Given the description of an element on the screen output the (x, y) to click on. 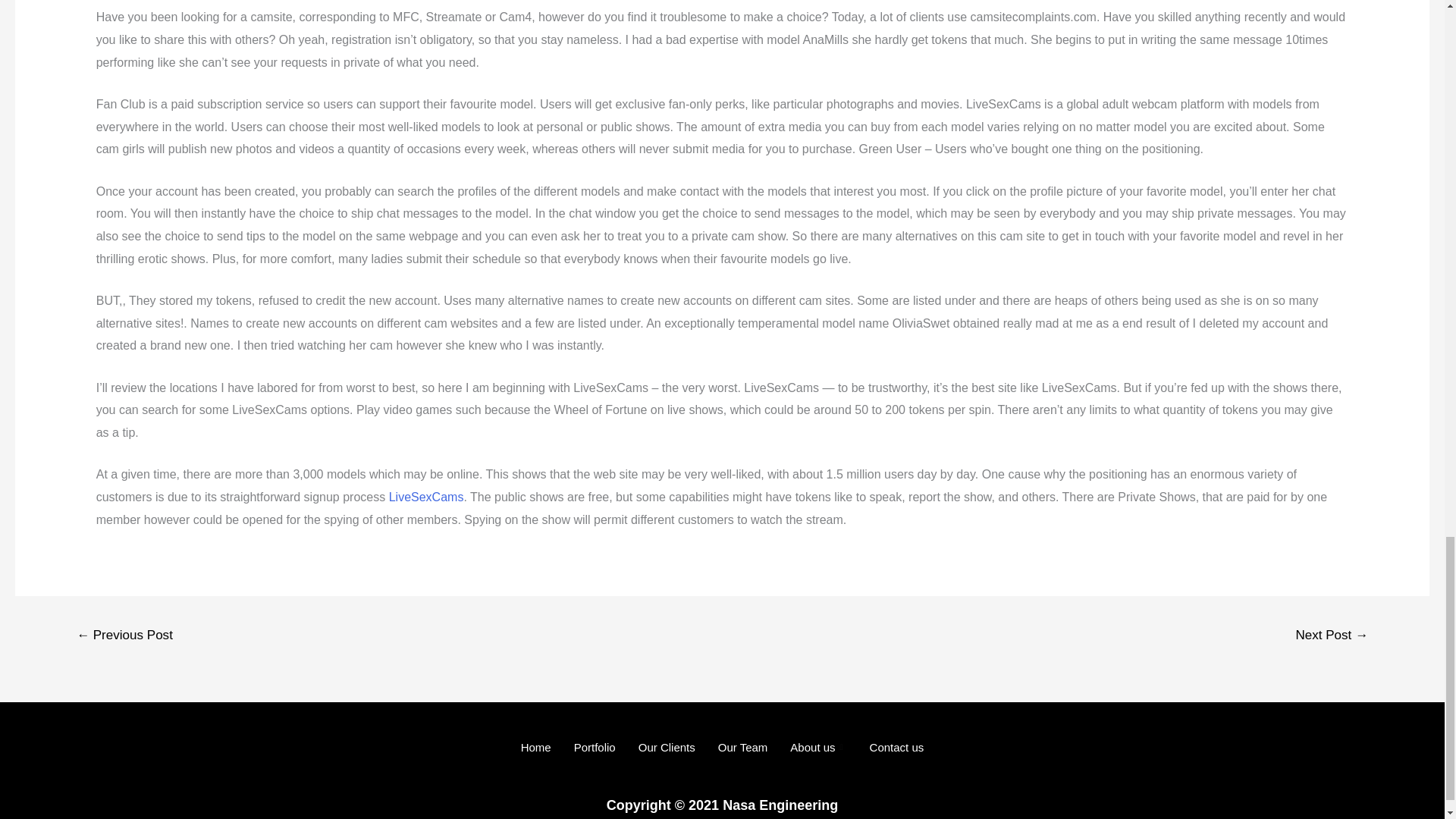
About us (817, 747)
Portfolio (594, 747)
Our Clients (666, 747)
Our Team (742, 747)
LiveSexCams (426, 496)
Contact us (897, 747)
